Given the description of an element on the screen output the (x, y) to click on. 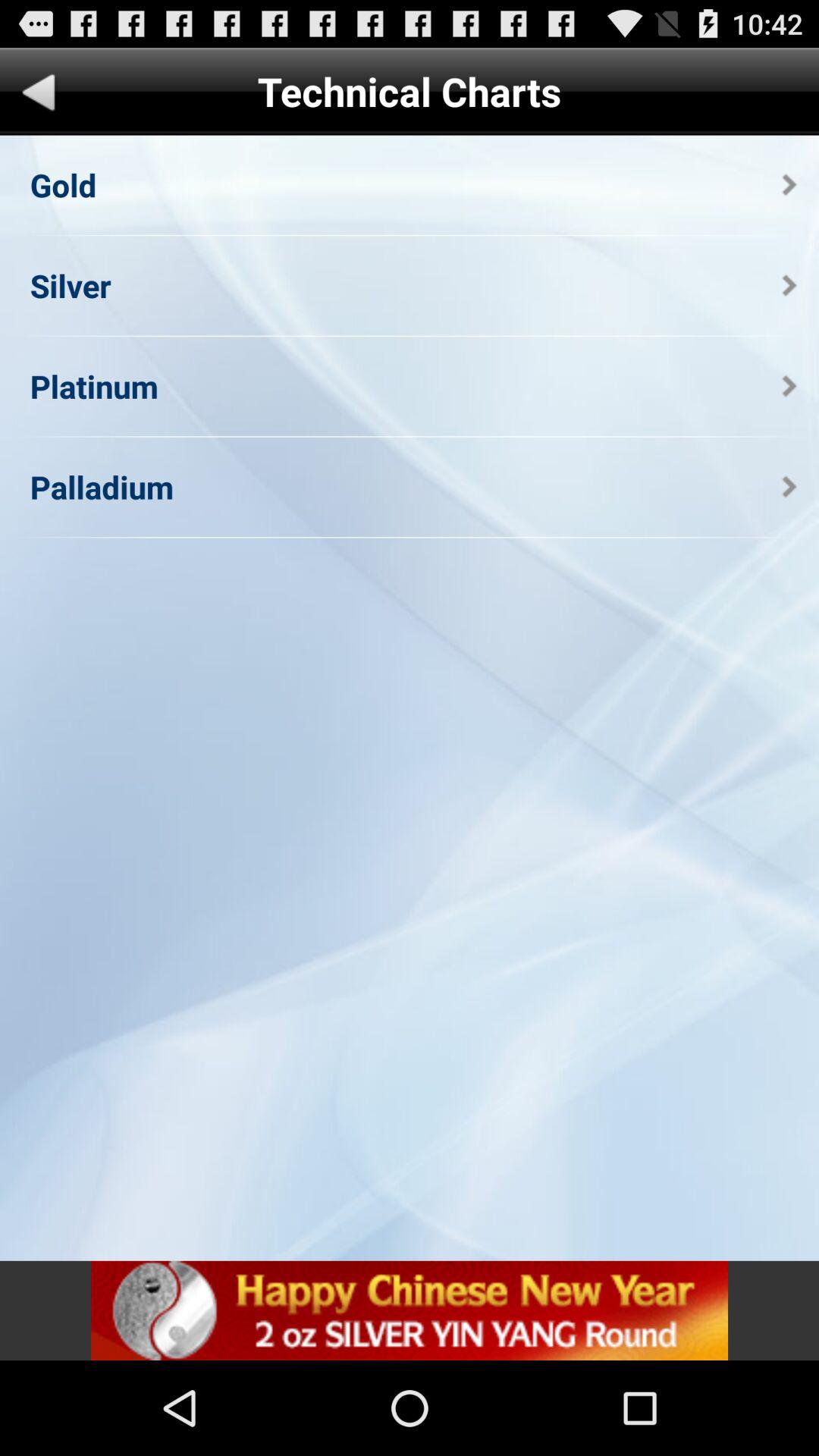
flip to gold icon (63, 184)
